Given the description of an element on the screen output the (x, y) to click on. 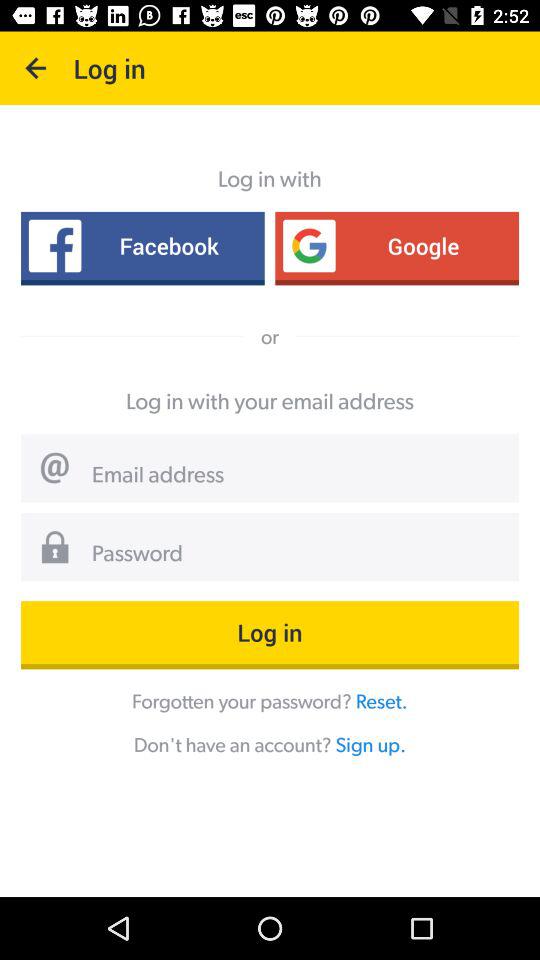
launch the item above the facebook icon (36, 68)
